Given the description of an element on the screen output the (x, y) to click on. 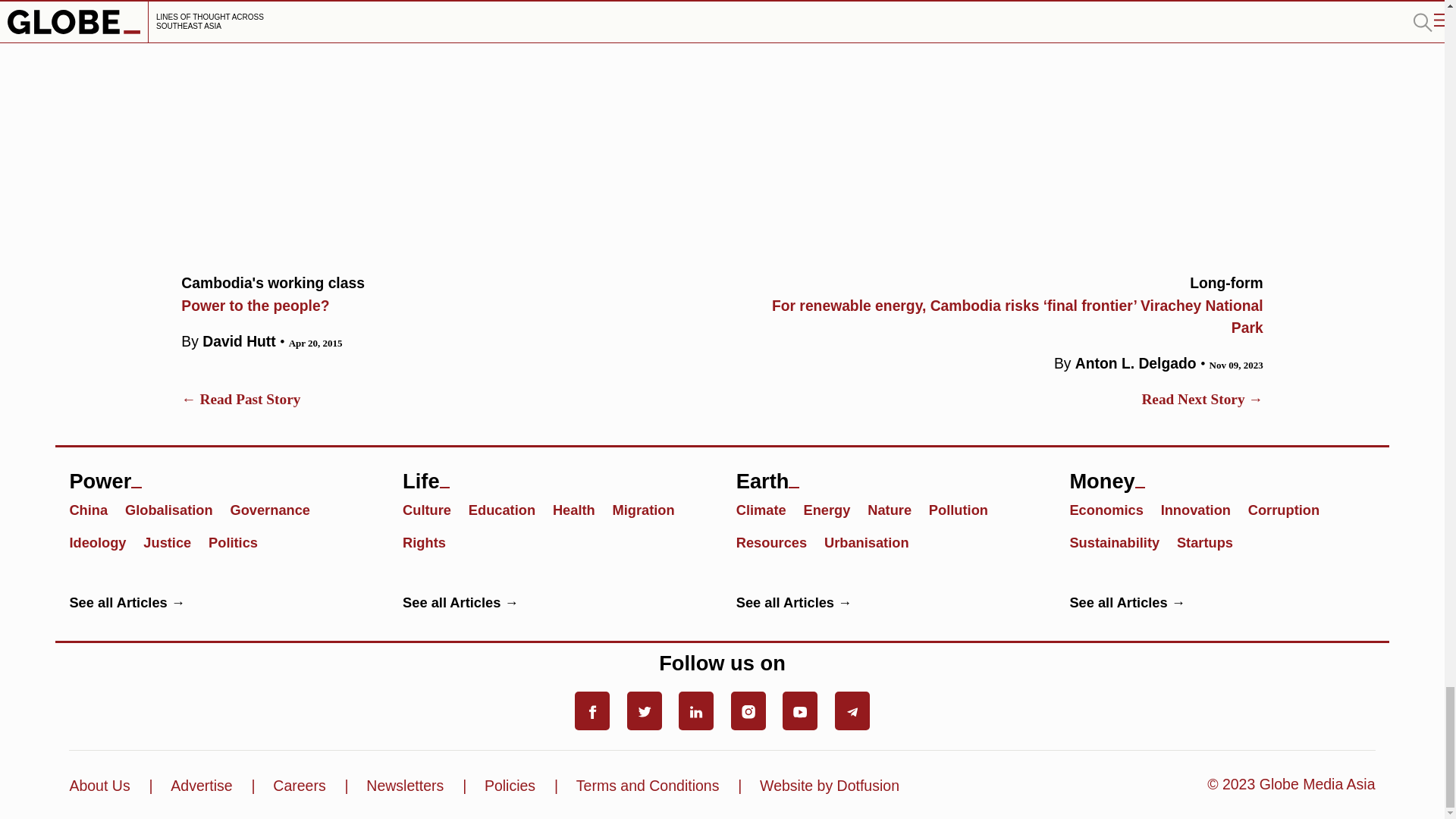
China (94, 508)
Governance (276, 508)
Justice (443, 291)
Power (173, 541)
Ideology (221, 474)
Globalisation (103, 541)
